Given the description of an element on the screen output the (x, y) to click on. 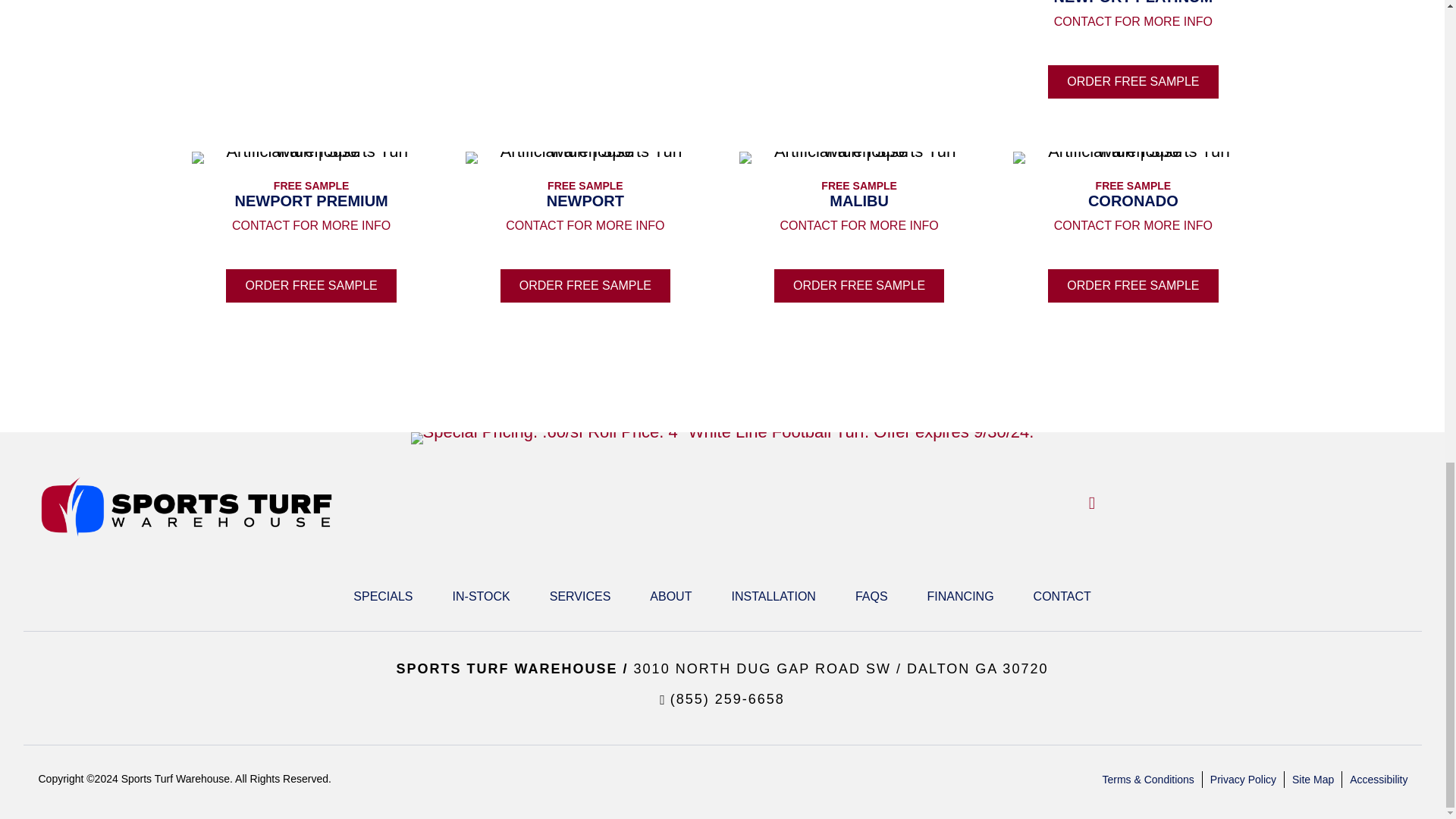
Click Here (310, 285)
Newport Premium (310, 157)
Click Here (1132, 81)
CONTACT FOR MORE INFO (1133, 21)
